Given the description of an element on the screen output the (x, y) to click on. 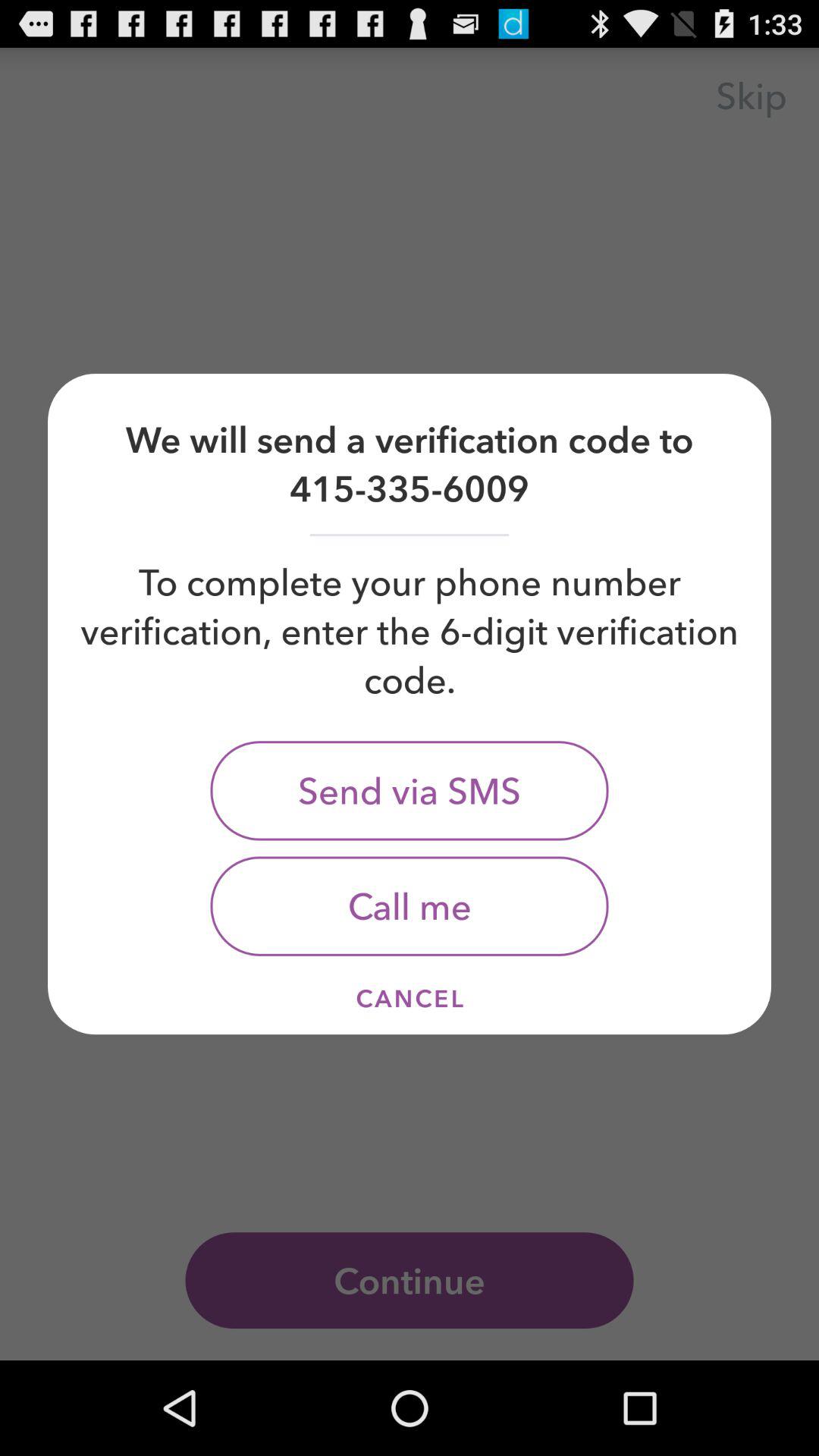
launch the icon below the send via sms item (409, 906)
